Given the description of an element on the screen output the (x, y) to click on. 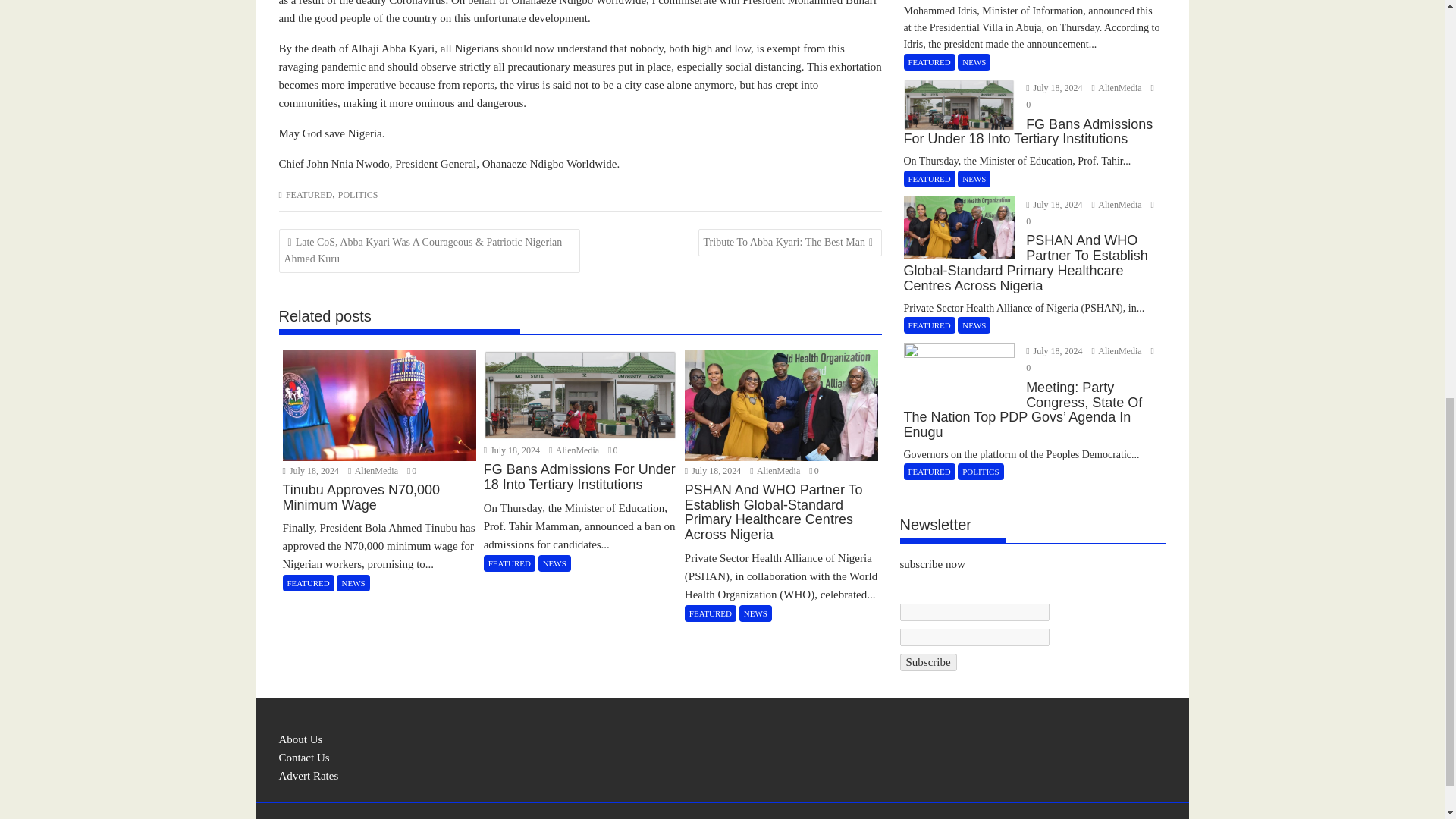
AlienMedia (775, 470)
AlienMedia (574, 450)
POLITICS (357, 194)
Subscribe (927, 661)
AlienMedia (373, 470)
FEATURED (308, 194)
